Given the description of an element on the screen output the (x, y) to click on. 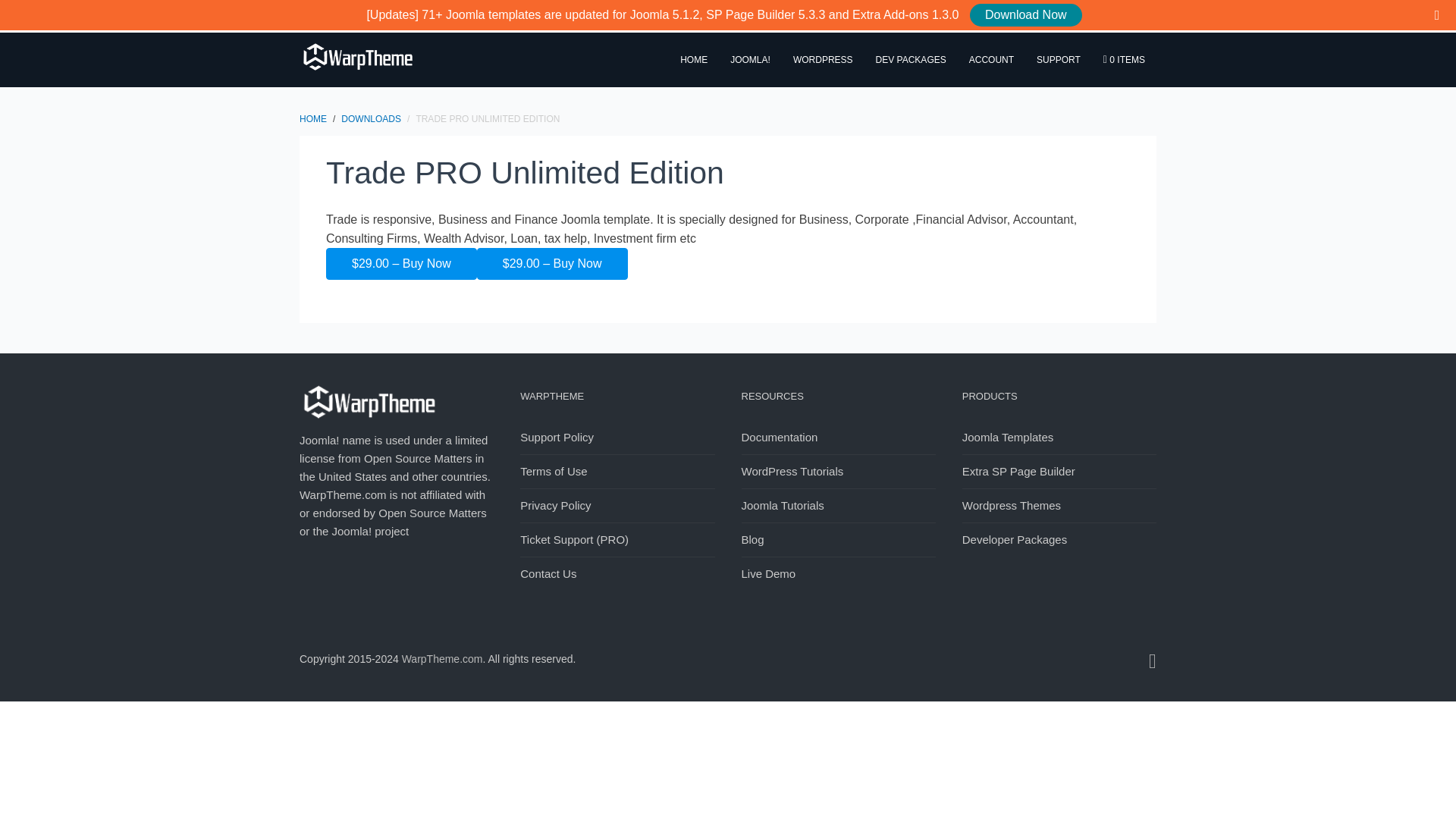
Contact Us (616, 573)
Free Joomla Templates and Premium Joomla Templates (442, 658)
Joomla Templates (1059, 437)
SUPPORT (1058, 60)
DEV PACKAGES (911, 60)
Live Demo (838, 573)
Terms of Use (616, 471)
Documentation (838, 437)
Support Policy (616, 437)
HOME (312, 118)
